Given the description of an element on the screen output the (x, y) to click on. 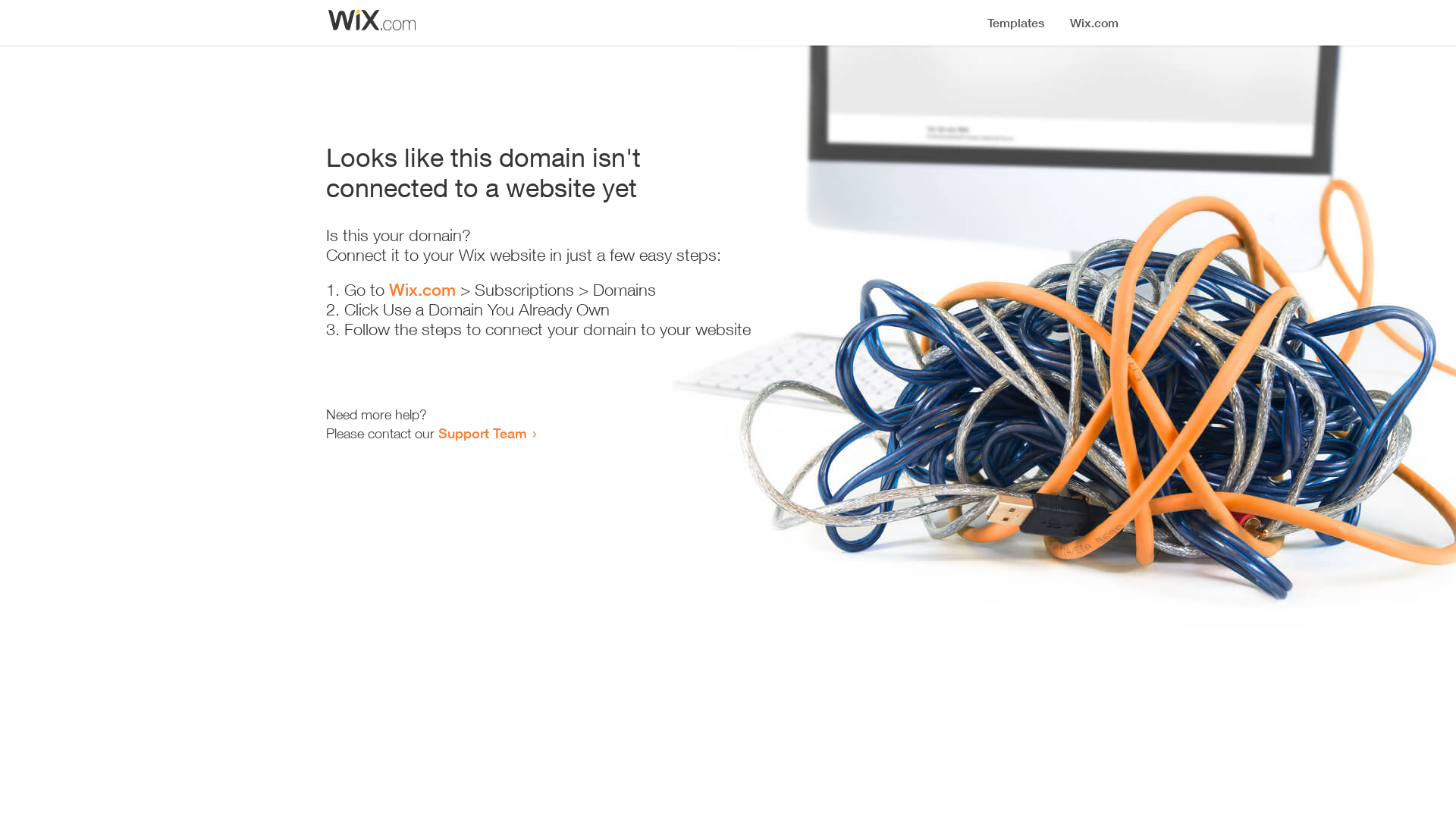
Support Team Element type: text (482, 432)
Wix.com Element type: text (422, 289)
